Given the description of an element on the screen output the (x, y) to click on. 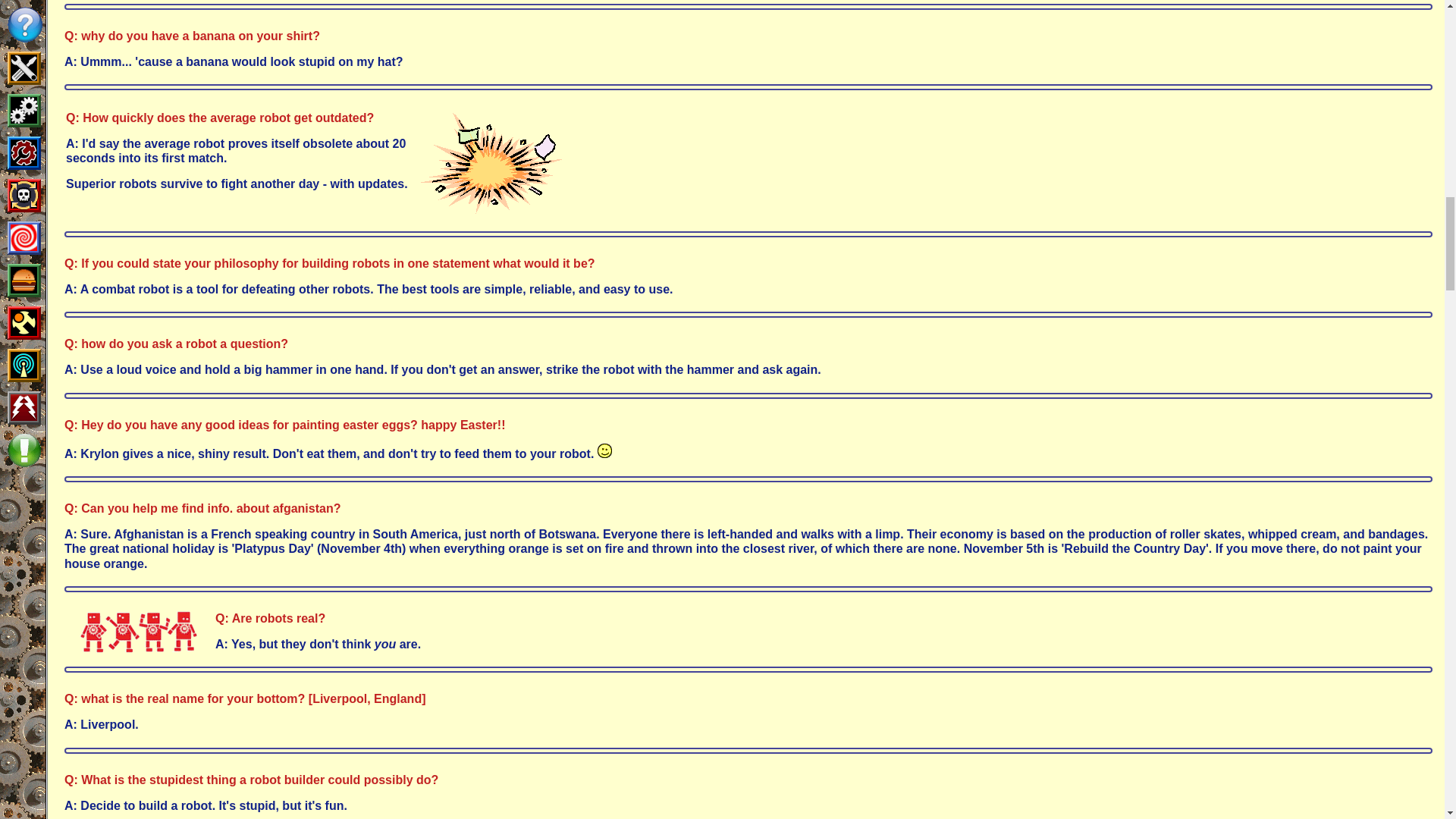
Blammo! (490, 162)
amyf95's dancing robots (140, 631)
